Given the description of an element on the screen output the (x, y) to click on. 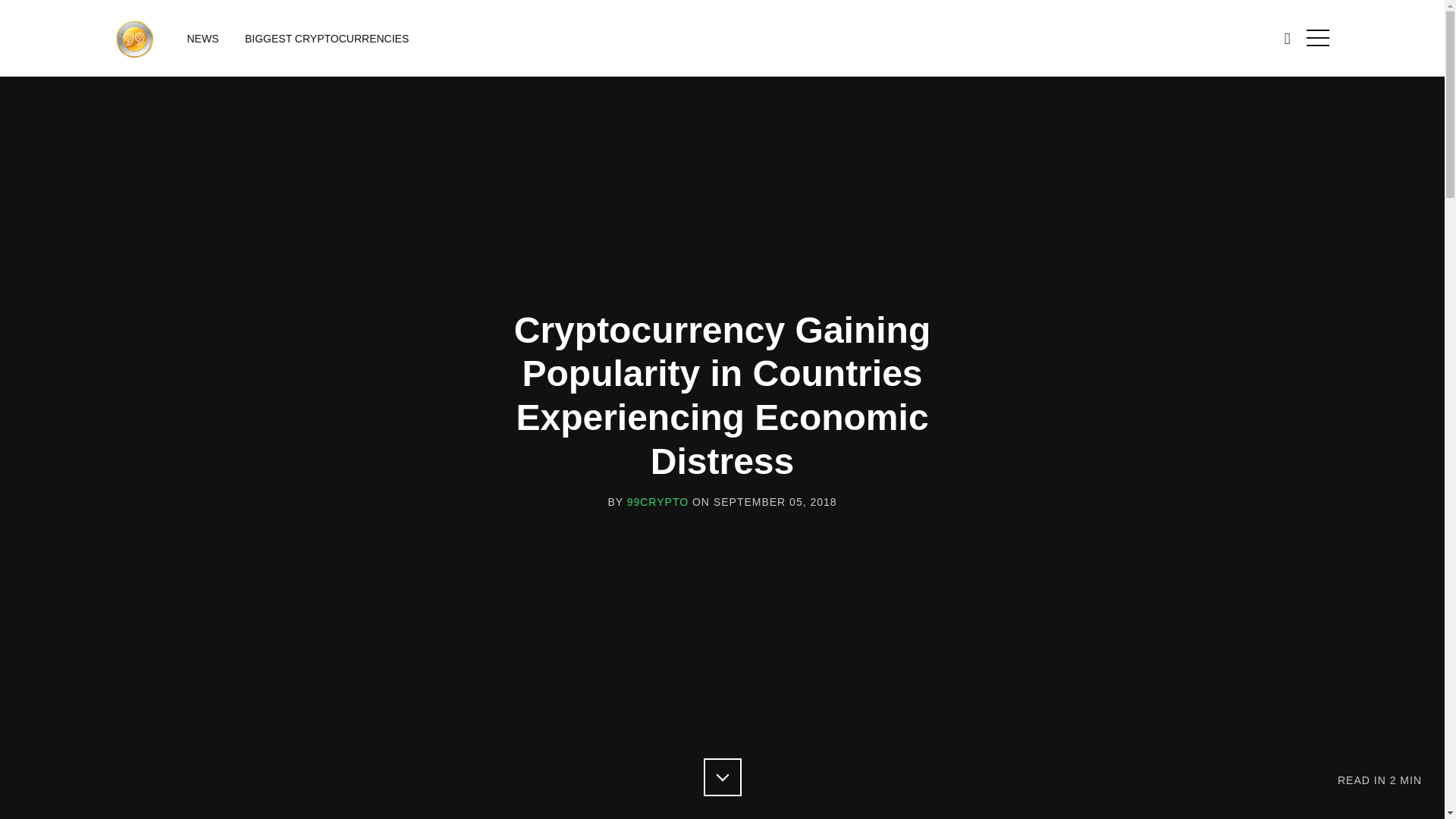
Search (1286, 37)
Open Sidebar (1316, 37)
BIGGEST CRYPTOCURRENCIES (326, 38)
NEWS (203, 38)
99CRYPTO (657, 502)
Scroll Down (722, 777)
Scroll Down (722, 777)
